Given the description of an element on the screen output the (x, y) to click on. 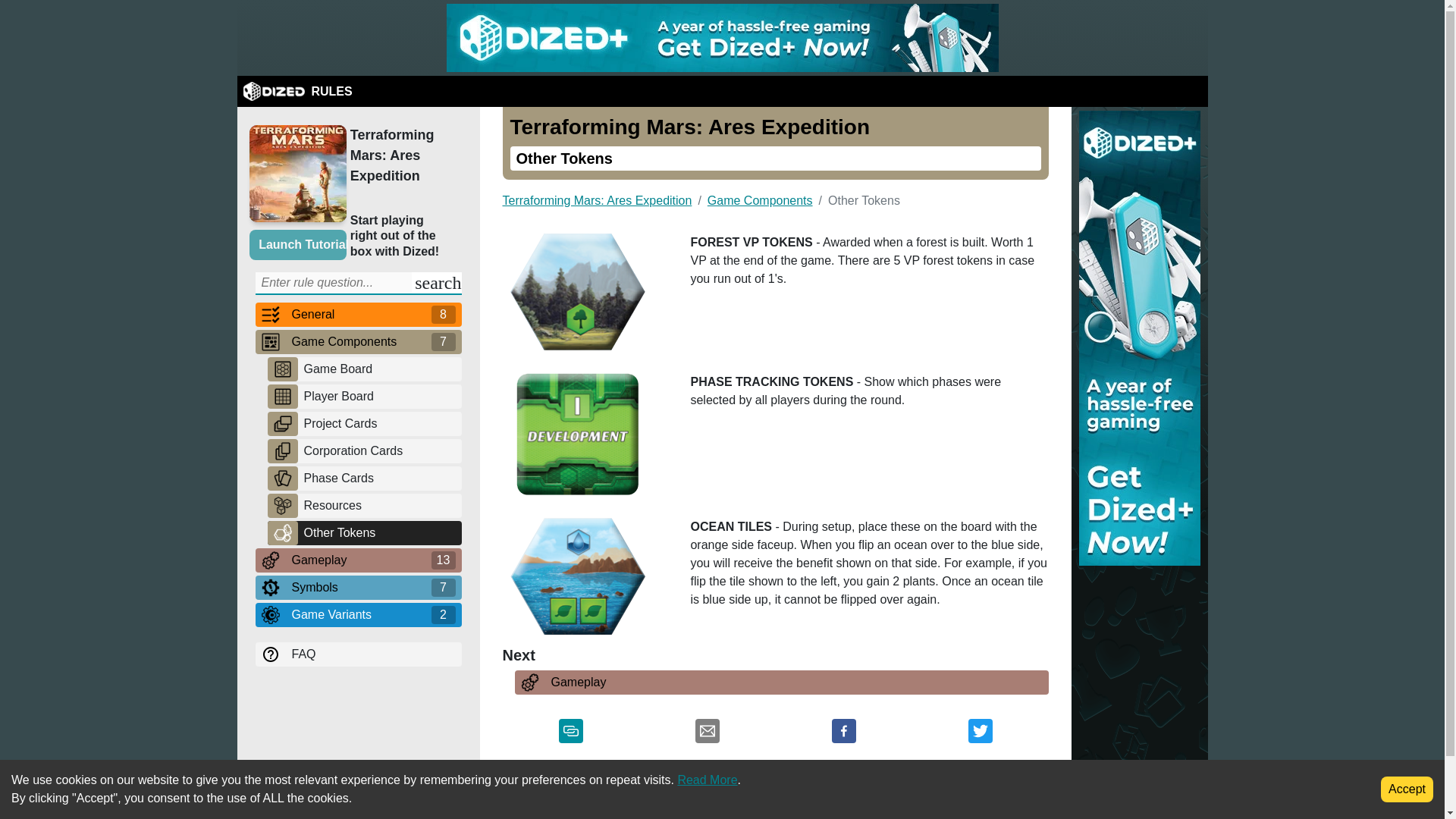
Other Tokens (379, 532)
Share link via E-Mail (706, 733)
  RULES (297, 90)
Resources (379, 505)
Copy link to clipboard (569, 733)
Phase Cards (379, 477)
Share link on Twitter (979, 733)
Corporation Cards (379, 450)
Terraforming Mars: Ares Expedition (401, 155)
Launch Tutorial (297, 245)
Game Components (357, 341)
Symbols (357, 587)
General (357, 313)
Gameplay (357, 559)
Game Board (379, 368)
